Given the description of an element on the screen output the (x, y) to click on. 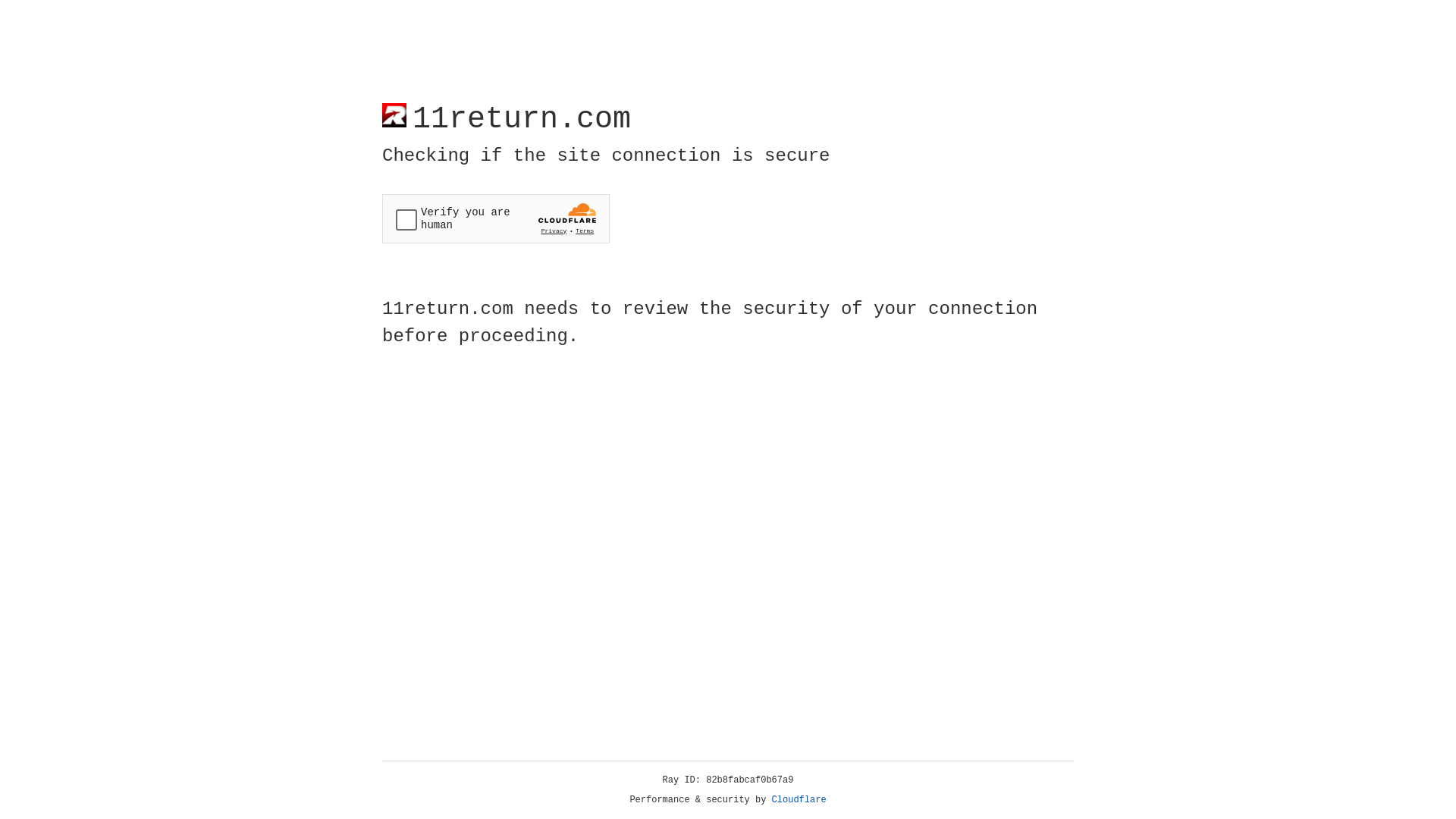
Cloudflare Element type: text (798, 799)
Widget containing a Cloudflare security challenge Element type: hover (495, 218)
